Given the description of an element on the screen output the (x, y) to click on. 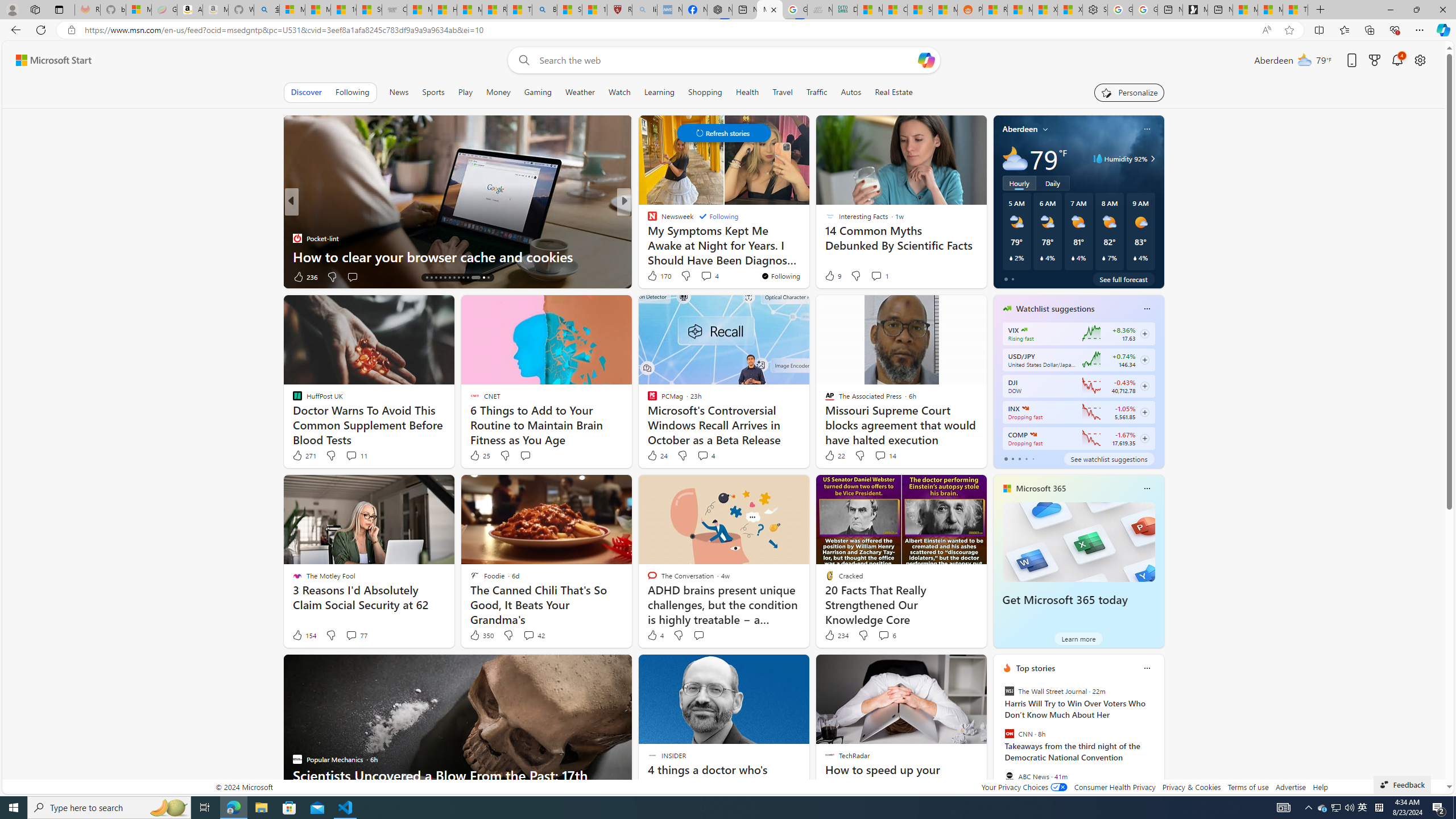
Sports (432, 92)
Watch (619, 92)
MSNBC - MSN (869, 9)
4 Like (655, 634)
Start the conversation (698, 634)
Health (746, 92)
Hourly (1018, 183)
Real Estate (893, 92)
Help (1320, 786)
View comments 77 Comment (350, 635)
